Given the description of an element on the screen output the (x, y) to click on. 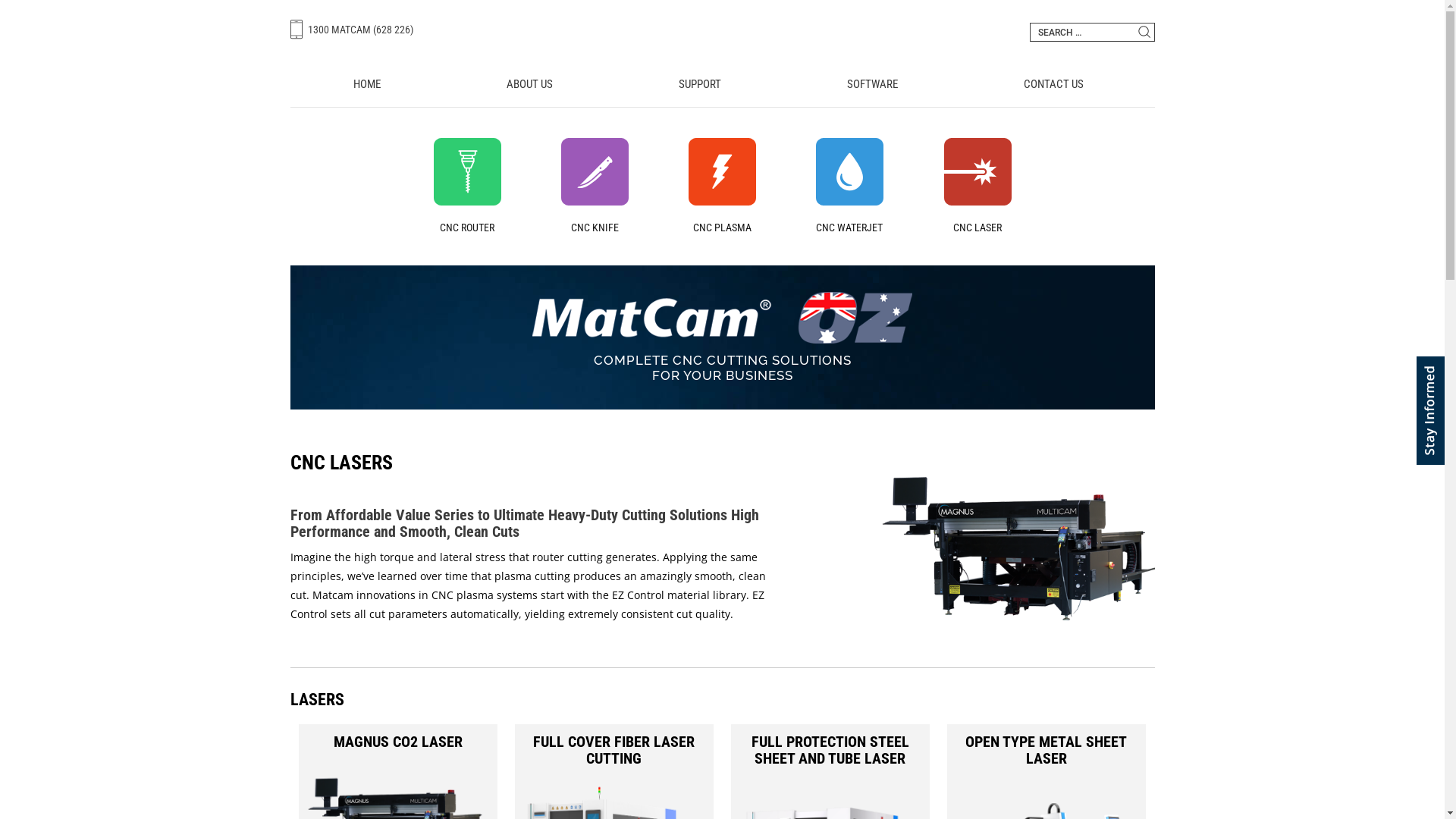
HOME Element type: text (365, 84)
CNC KNIFE Element type: text (594, 200)
SOFTWARE Element type: text (872, 84)
CNC LASER Element type: text (977, 200)
SUPPORT Element type: text (699, 84)
CNC WATERJET Element type: text (849, 200)
ABOUT US Element type: text (528, 84)
CONTACT US Element type: text (1052, 84)
1300 MATCAM (628 226) Element type: text (350, 27)
CNC PLASMA Element type: text (722, 200)
CNC ROUTER Element type: text (467, 200)
